Given the description of an element on the screen output the (x, y) to click on. 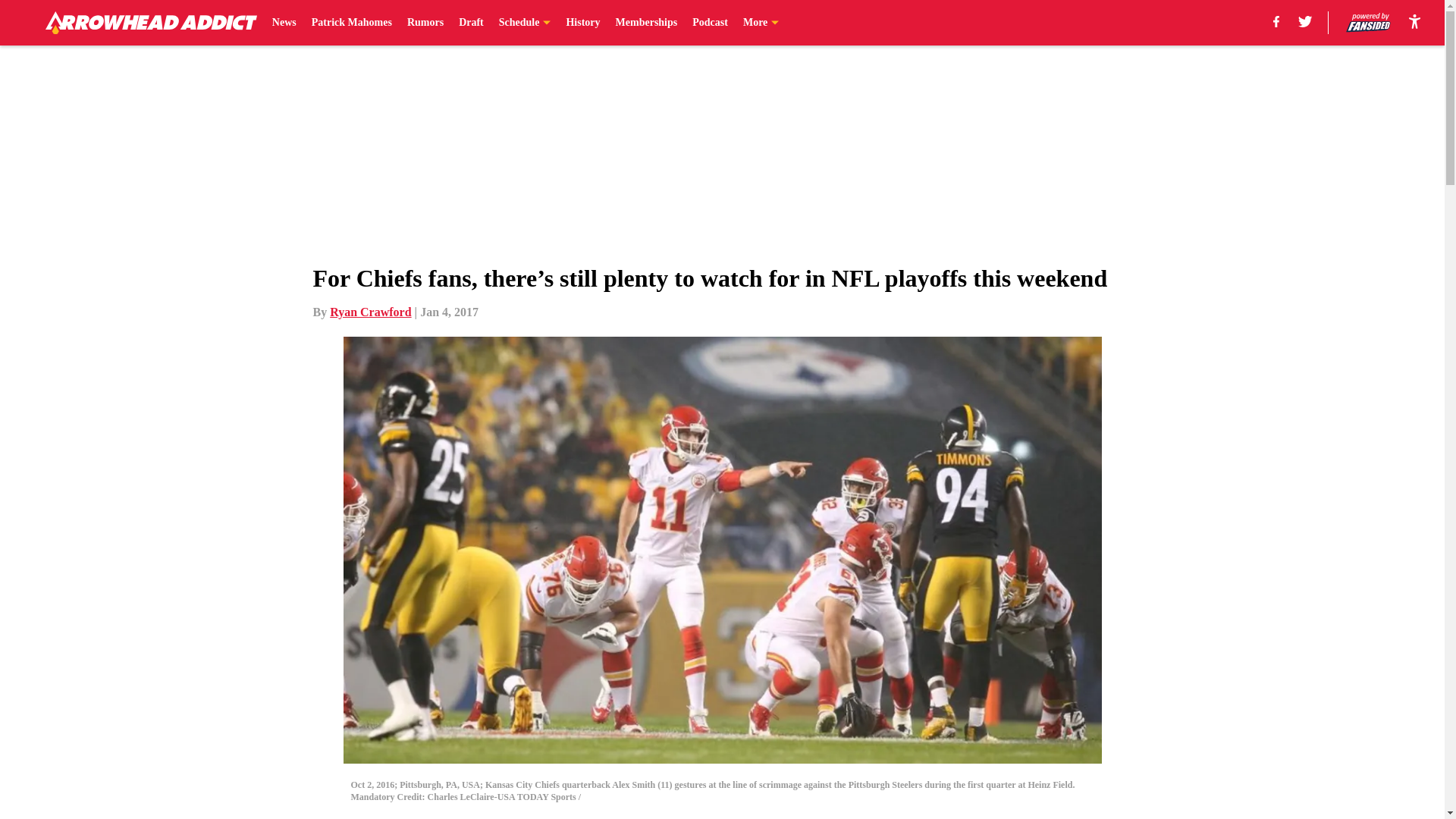
History (582, 22)
Memberships (646, 22)
Patrick Mahomes (351, 22)
Draft (470, 22)
News (284, 22)
Rumors (425, 22)
Ryan Crawford (370, 311)
Podcast (710, 22)
